Given the description of an element on the screen output the (x, y) to click on. 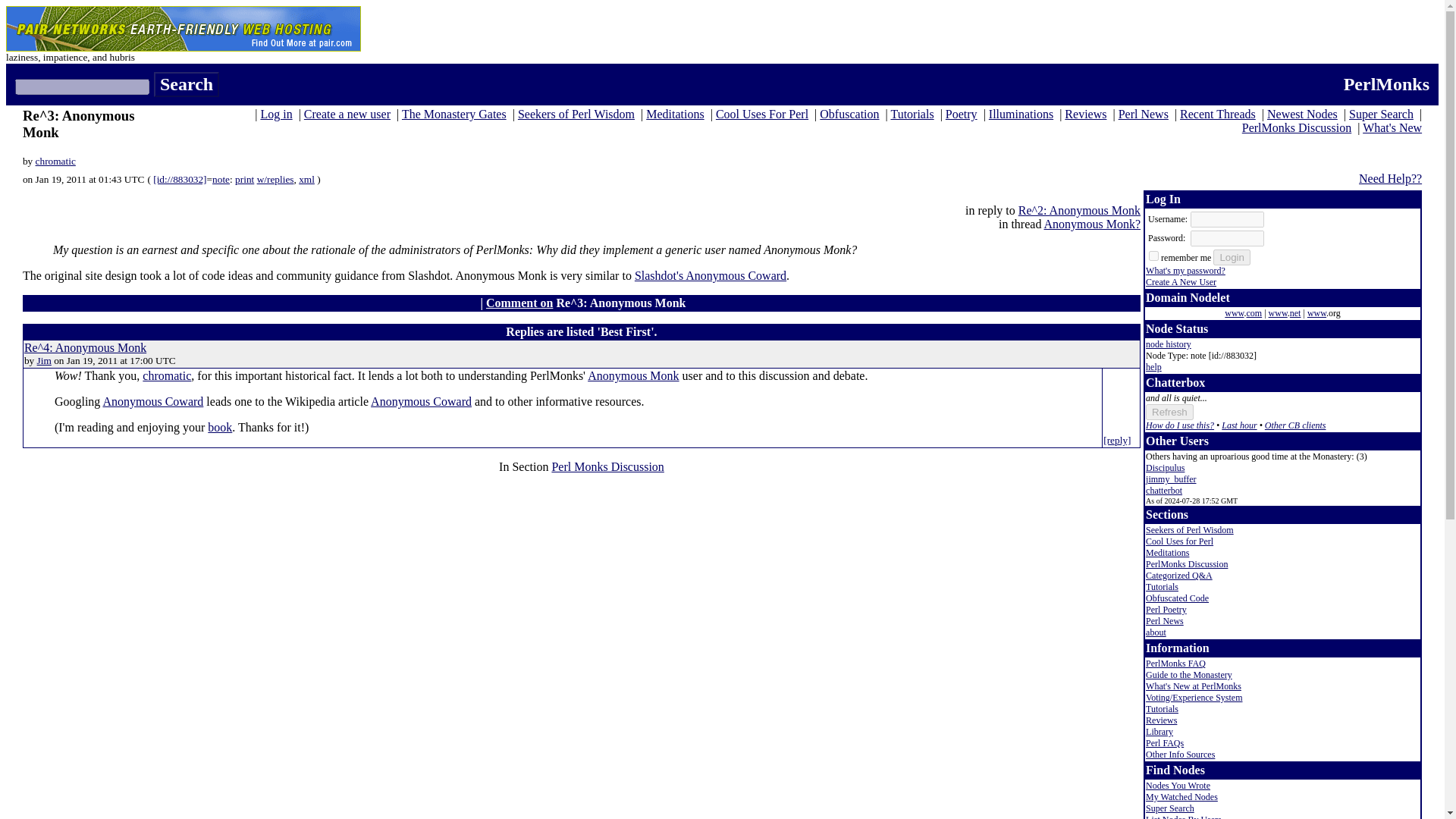
Anonymous Coward (421, 400)
The Monastery Gates (453, 113)
print (243, 179)
Cool Uses For Perl (762, 113)
Search (186, 84)
Slashdot's Anonymous Coward (710, 275)
xml (306, 179)
PerlMonks Discussion (1296, 127)
Super Search (1381, 113)
Discipulus's home node. Level 20. Member of: janitors (1165, 467)
note (221, 179)
Jim (43, 360)
What's New (1392, 127)
PerlMonks (1386, 84)
Recent Threads (1217, 113)
